Given the description of an element on the screen output the (x, y) to click on. 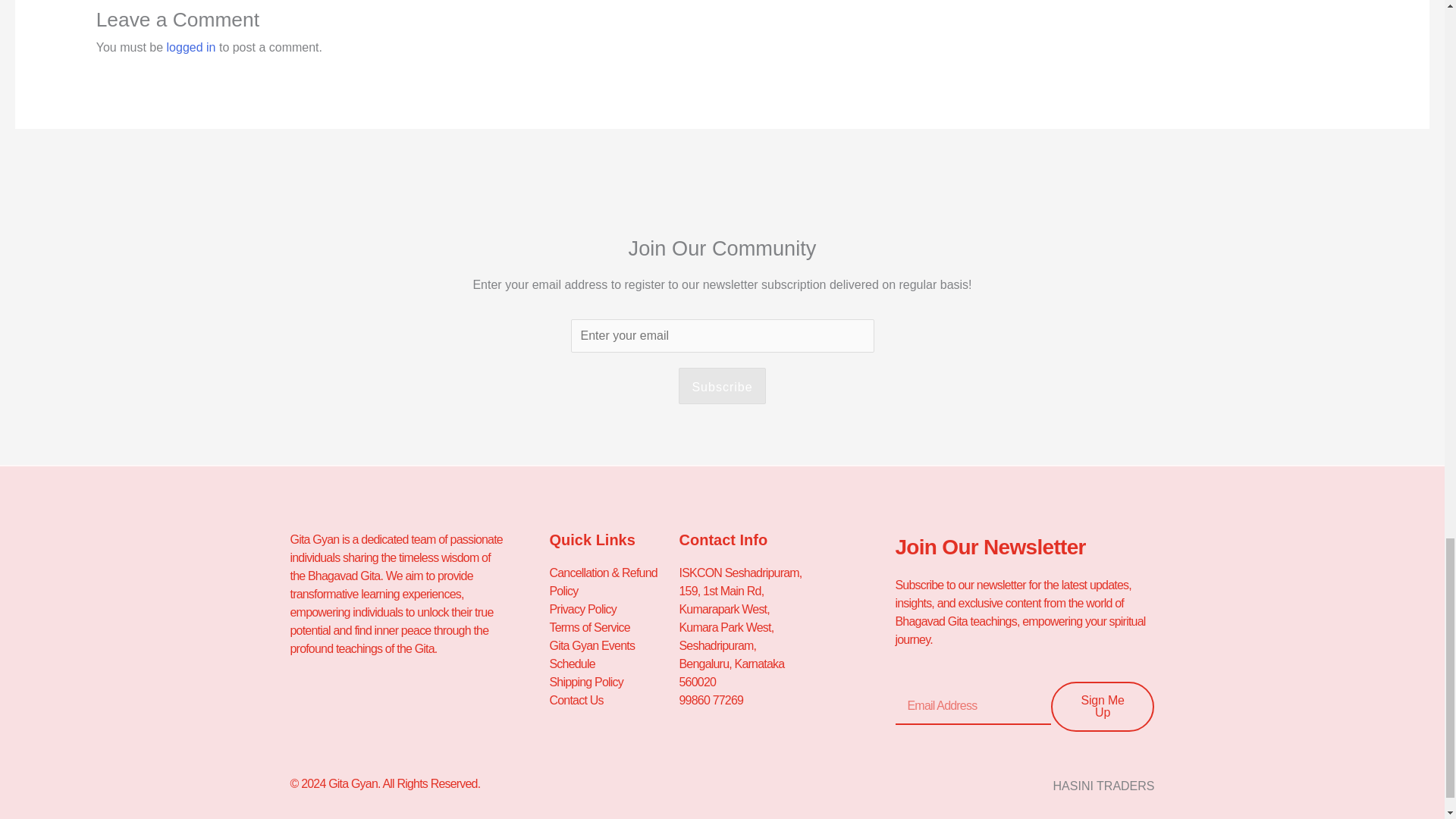
Sign Me Up (1102, 706)
Privacy Policy (613, 609)
logged in (191, 47)
Terms of Service (613, 628)
Contact Us (613, 700)
Gita Gyan Events Schedule (613, 655)
Shipping Policy (613, 682)
Subscribe (721, 385)
